Given the description of an element on the screen output the (x, y) to click on. 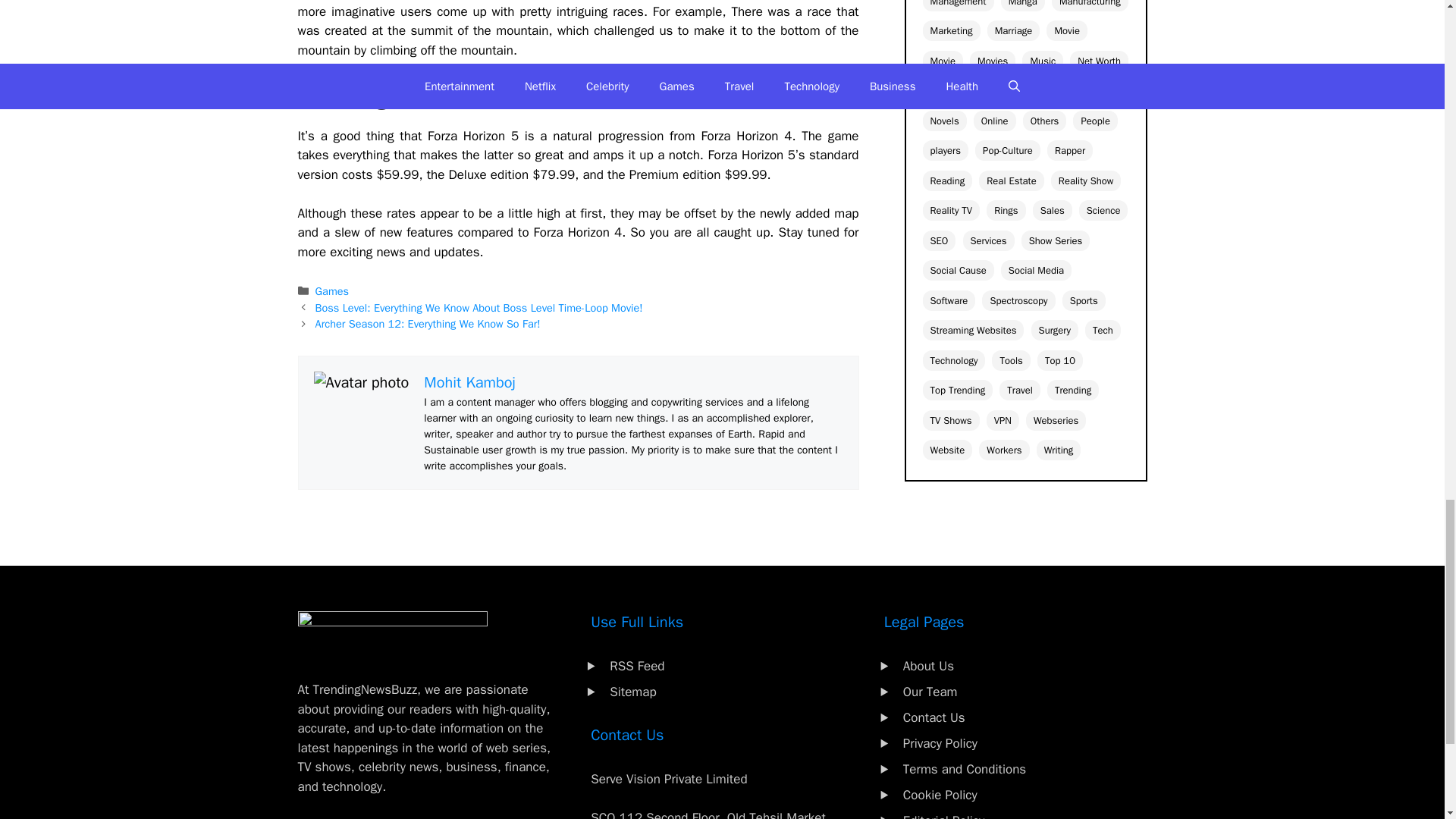
Archer Season 12: Everything We Know So Far! (427, 323)
Mohit Kamboj (469, 382)
Trendingnewsbuzz-white (391, 634)
Games (332, 291)
